Given the description of an element on the screen output the (x, y) to click on. 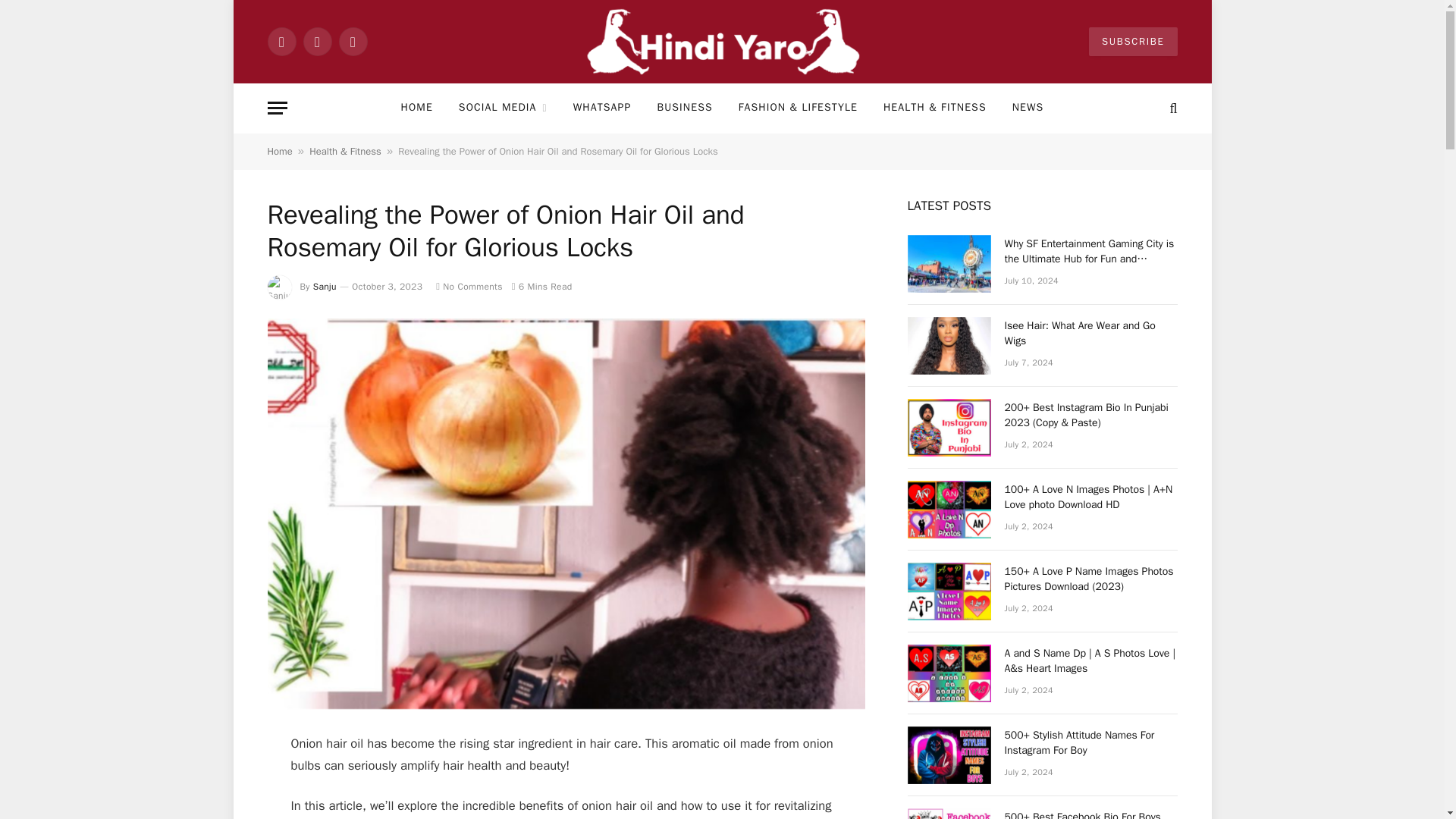
Hindiyaro.com (722, 41)
SUBSCRIBE (1132, 41)
SOCIAL MEDIA (502, 107)
Instagram (351, 41)
HOME (416, 107)
Facebook (280, 41)
